Given the description of an element on the screen output the (x, y) to click on. 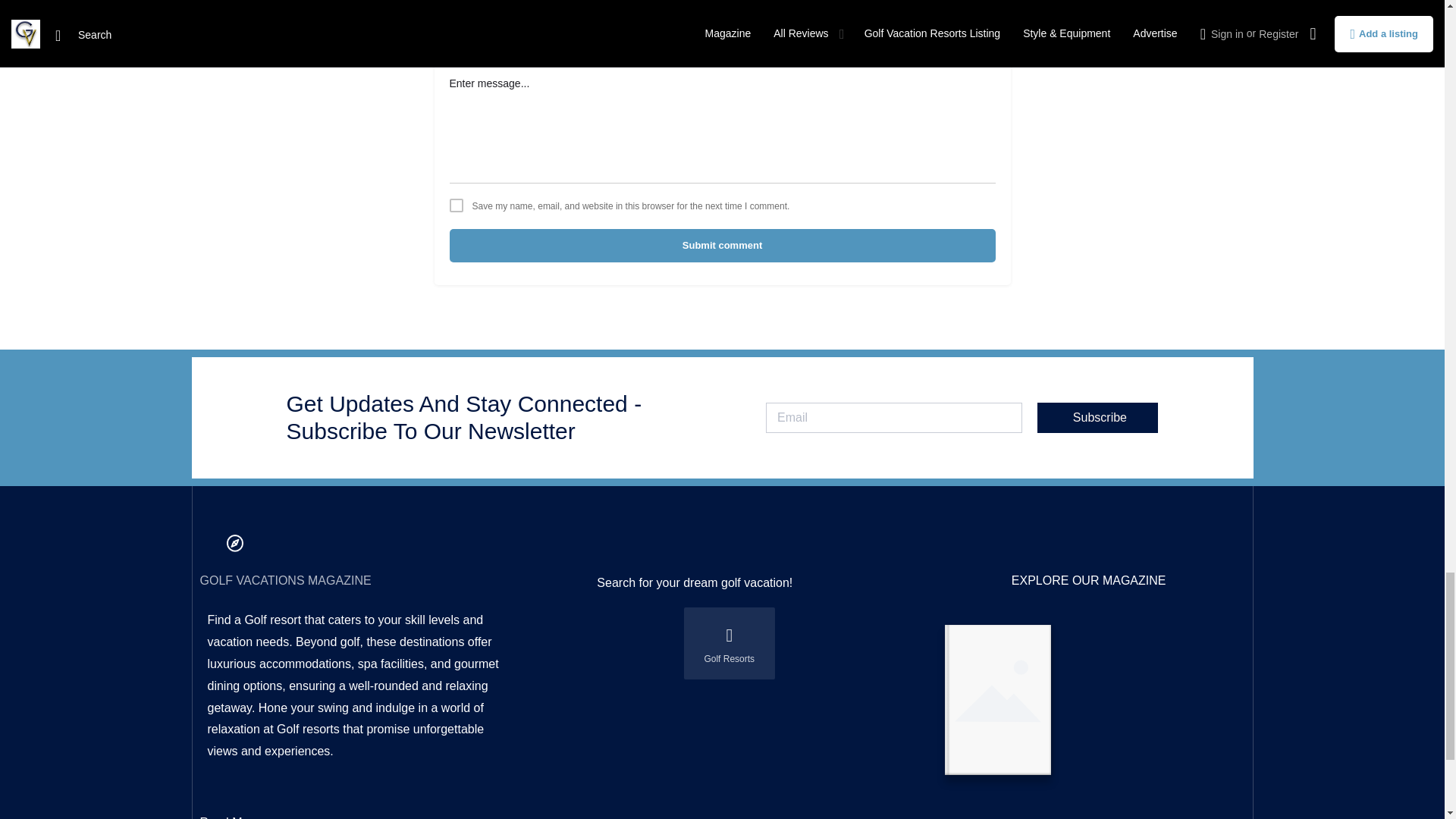
Subscribe (1096, 417)
Golf Resorts (729, 643)
Read More (230, 817)
Submit comment (721, 245)
